Given the description of an element on the screen output the (x, y) to click on. 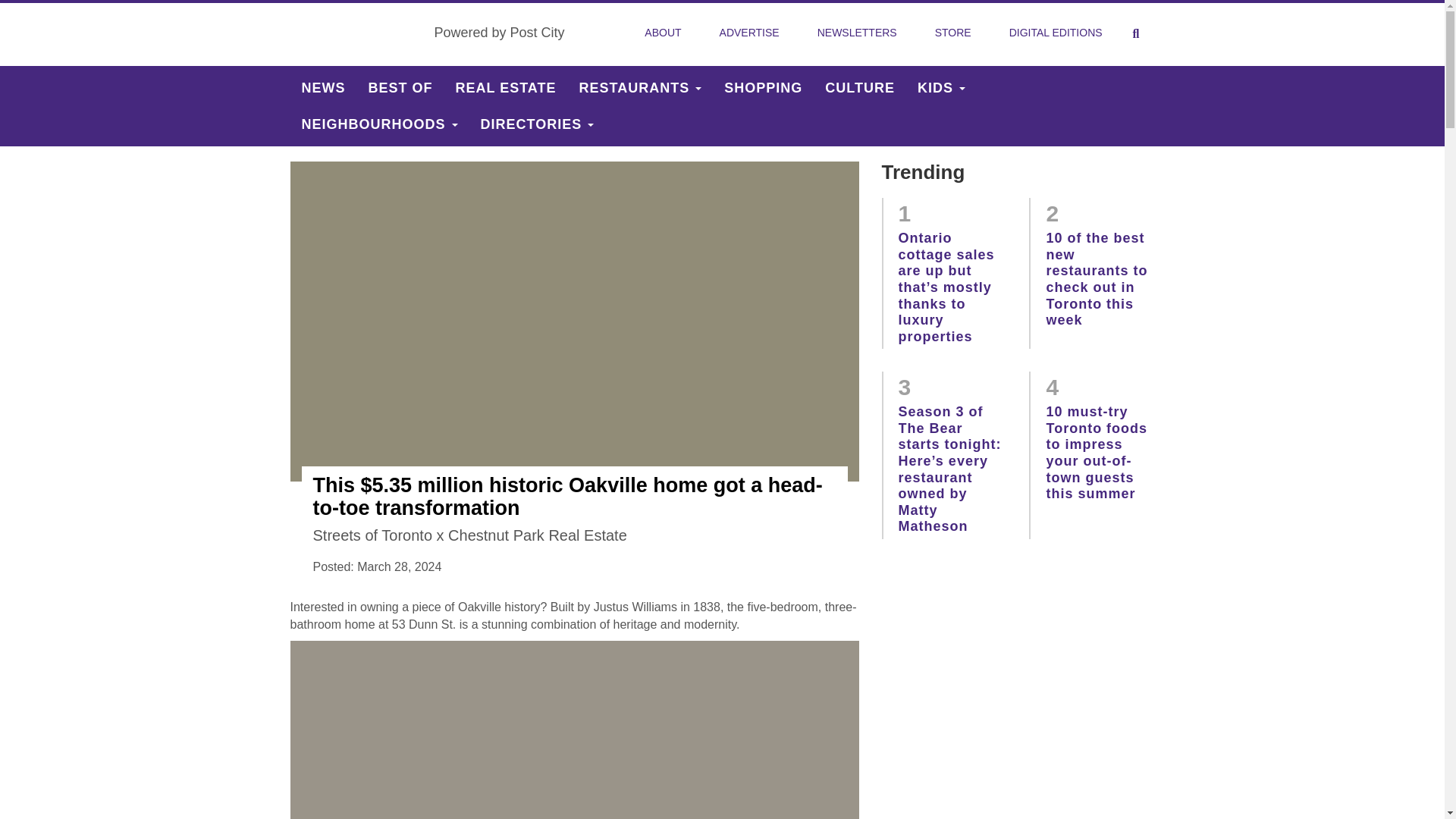
REAL ESTATE (505, 87)
ABOUT (661, 32)
CULTURE (859, 87)
NEWS (322, 87)
STORE (953, 32)
BEST OF (400, 87)
Streets Of Toronto (355, 33)
RESTAURANTS (640, 87)
SHOPPING (763, 87)
DIGITAL EDITIONS (1056, 32)
